Given the description of an element on the screen output the (x, y) to click on. 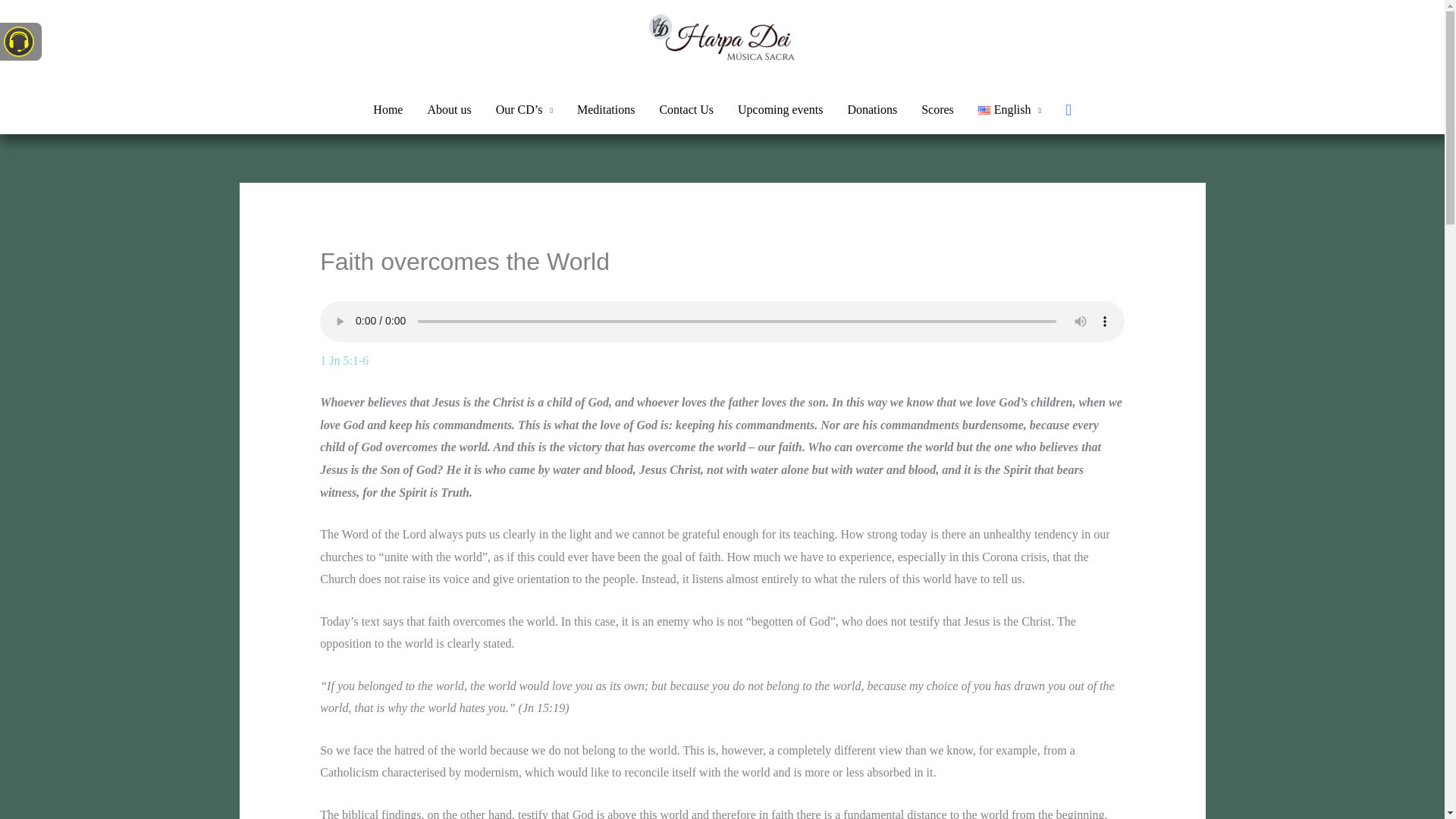
Scores (937, 109)
Contact Us (685, 109)
Donations (871, 109)
Upcoming events (779, 109)
English (1009, 109)
About us (448, 109)
Home (387, 109)
Meditations (605, 109)
